Given the description of an element on the screen output the (x, y) to click on. 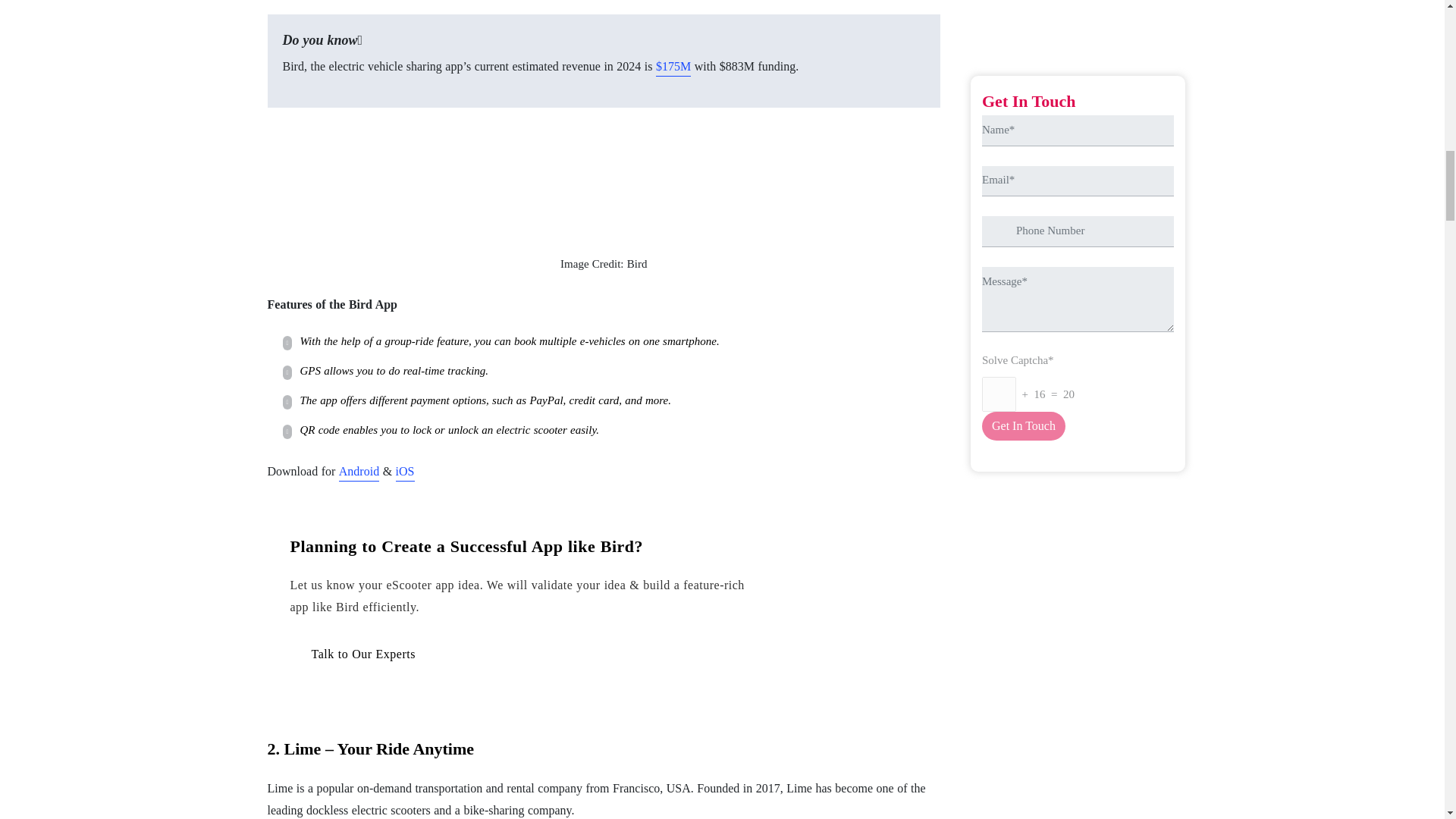
Bird - Electric Vehicle Sharing App (603, 177)
